Given the description of an element on the screen output the (x, y) to click on. 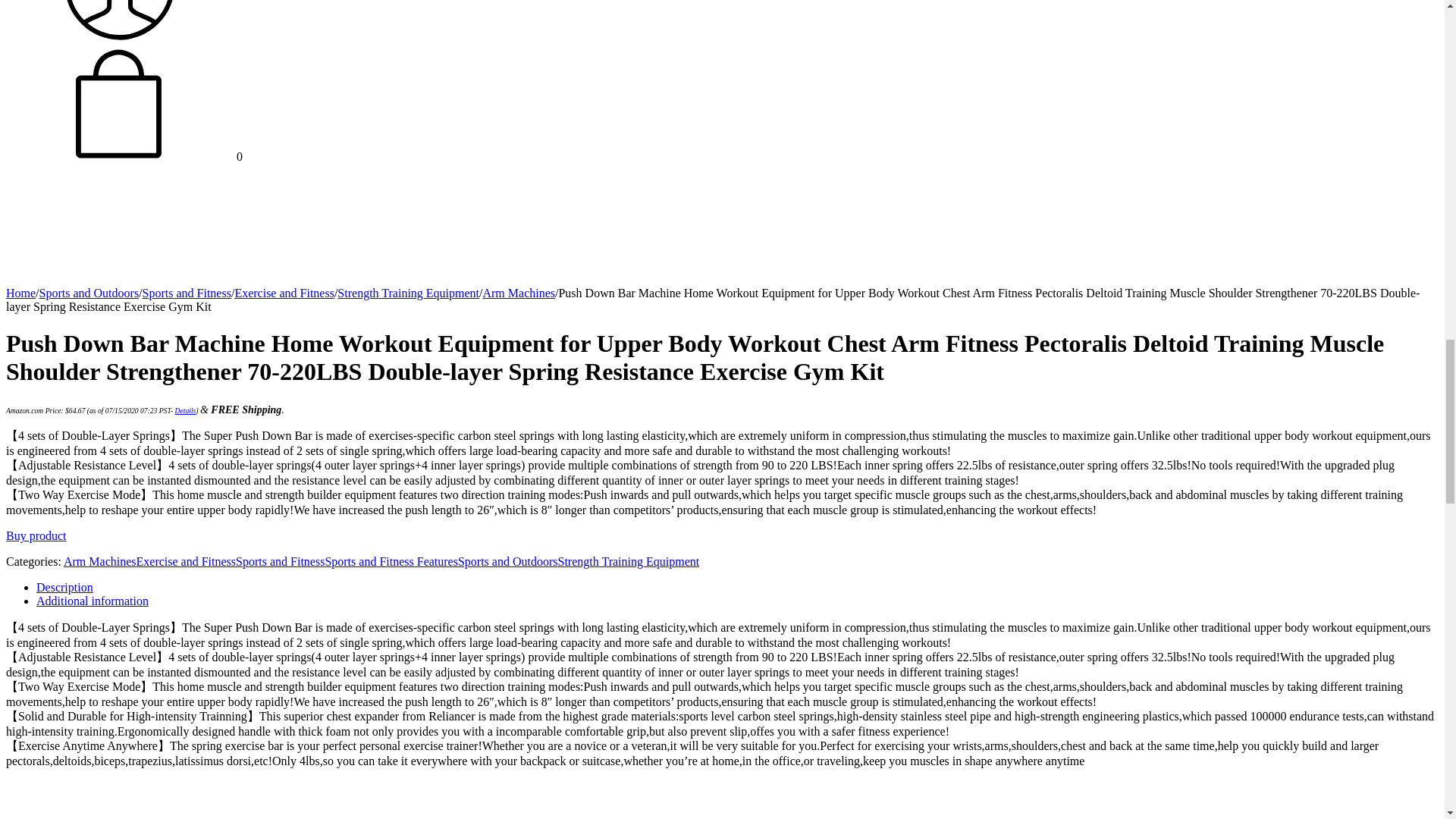
Home (19, 292)
Sports and Outdoors (89, 292)
0 (124, 155)
